Given the description of an element on the screen output the (x, y) to click on. 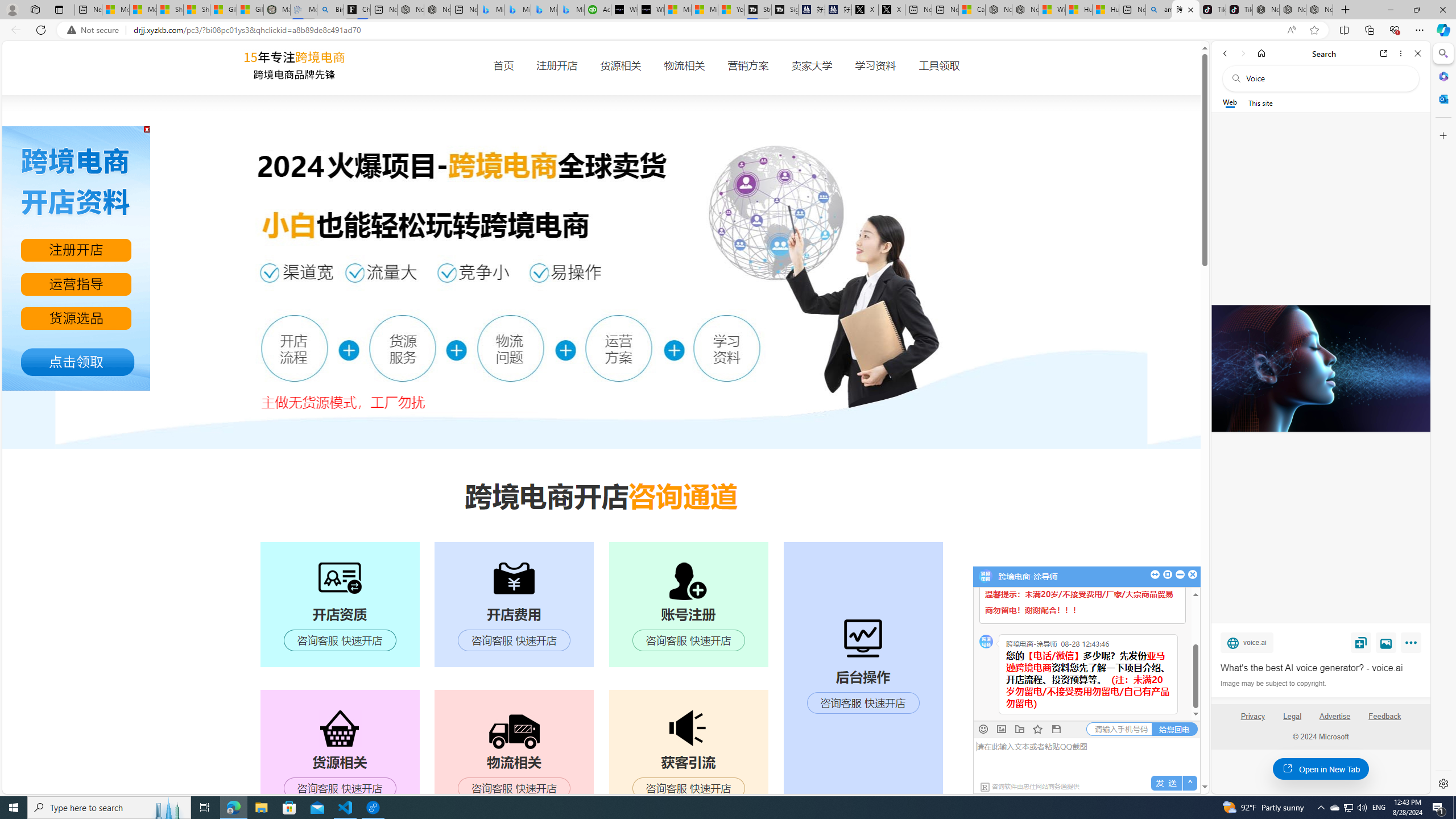
Open in New Tab (1321, 768)
AutomationID: tel (1118, 729)
View image (1385, 642)
Web scope (1230, 102)
